Given the description of an element on the screen output the (x, y) to click on. 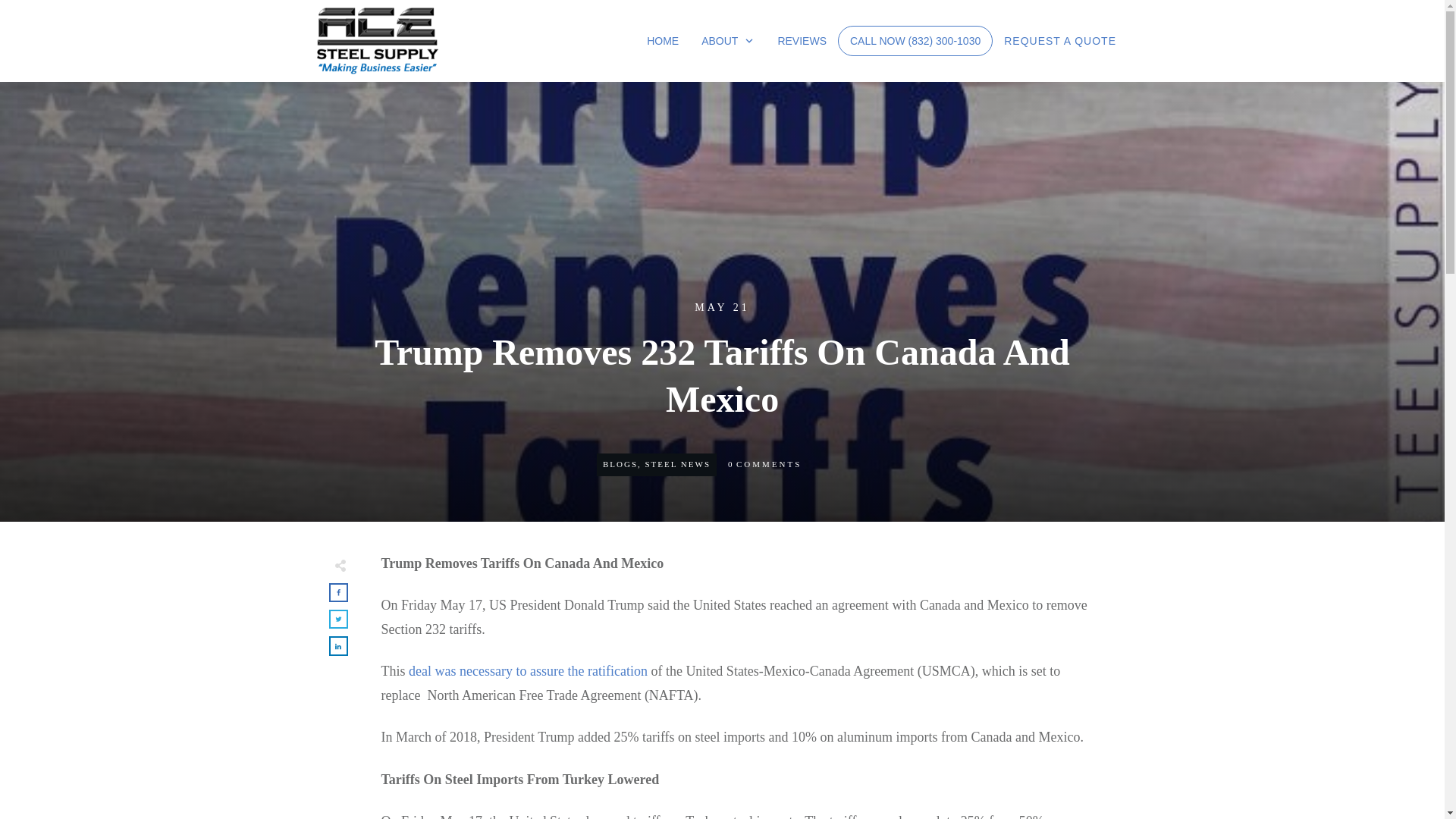
HOME (662, 40)
REQUEST A QUOTE (1060, 40)
BLOGS (619, 463)
STEEL NEWS (677, 463)
Houston Steel Sheet Supplier (662, 40)
ABOUT (727, 40)
Steel News (677, 463)
REVIEWS (802, 40)
Blogs (619, 463)
deal was necessary to assure the ratification (528, 670)
